Given the description of an element on the screen output the (x, y) to click on. 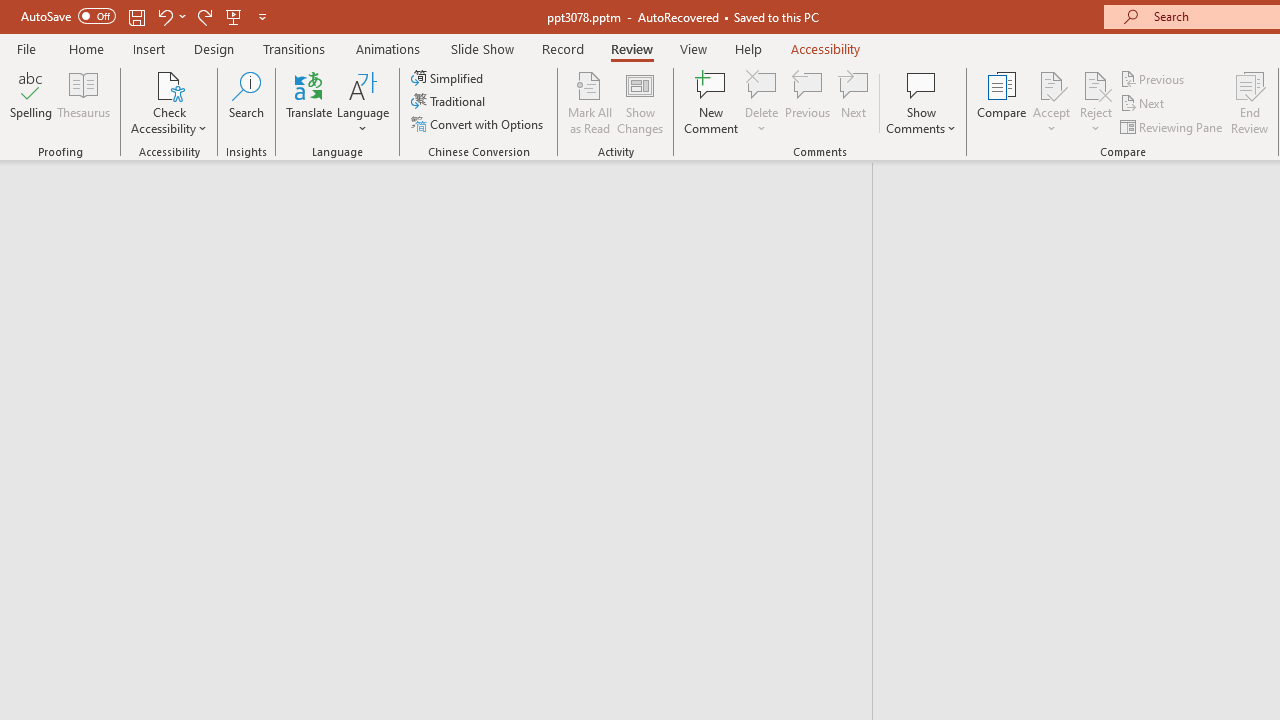
Reject Change (1096, 84)
Accept Change (1051, 84)
New Comment (711, 102)
Traditional (449, 101)
Simplified (449, 78)
